Given the description of an element on the screen output the (x, y) to click on. 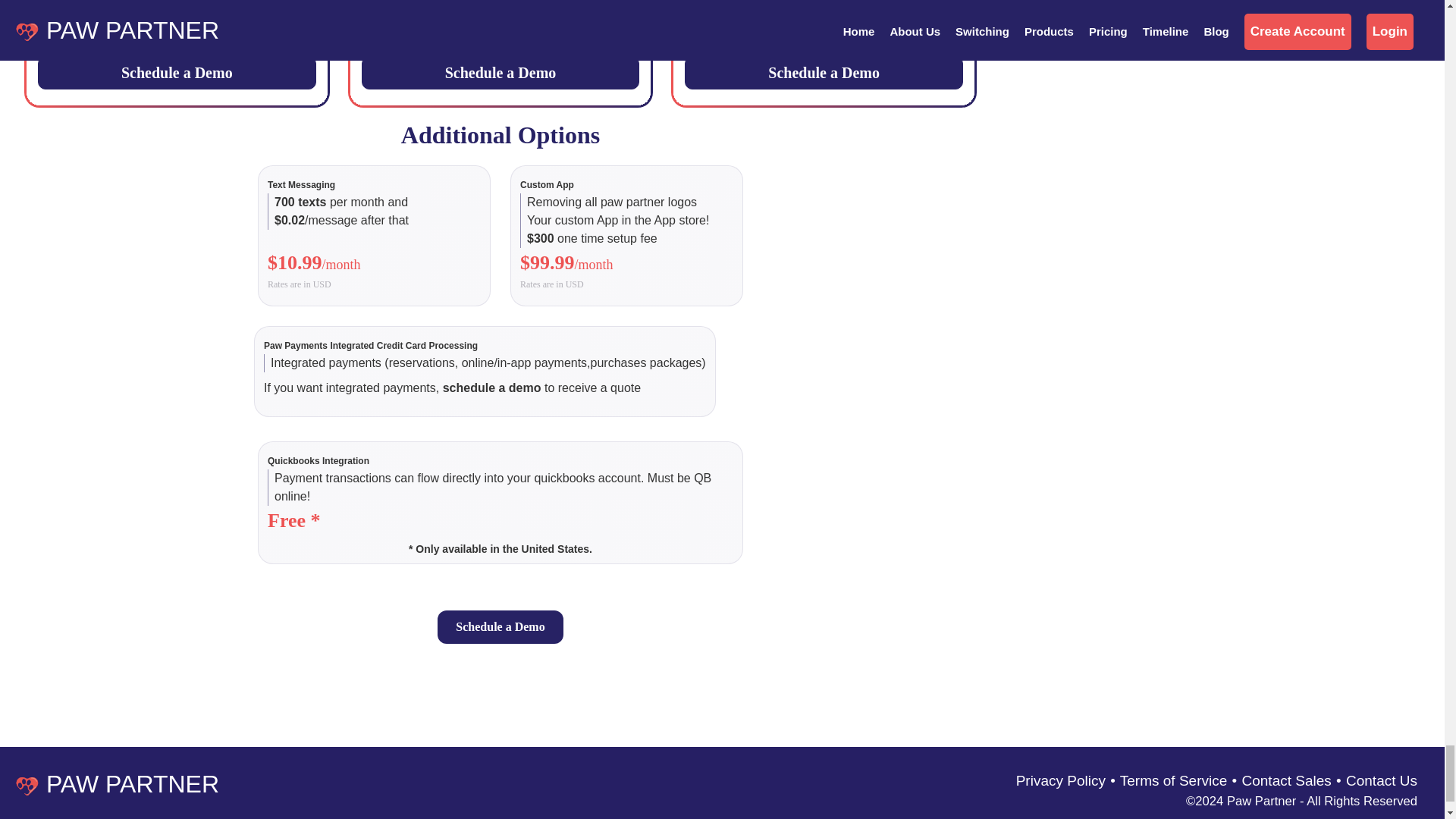
Terms of Service (1173, 780)
Schedule a Demo (500, 72)
Privacy Policy (1060, 780)
Contact Sales (1286, 780)
Contact Us (1380, 780)
Schedule a Demo (176, 72)
Schedule a Demo (823, 72)
Schedule a Demo (500, 626)
